Given the description of an element on the screen output the (x, y) to click on. 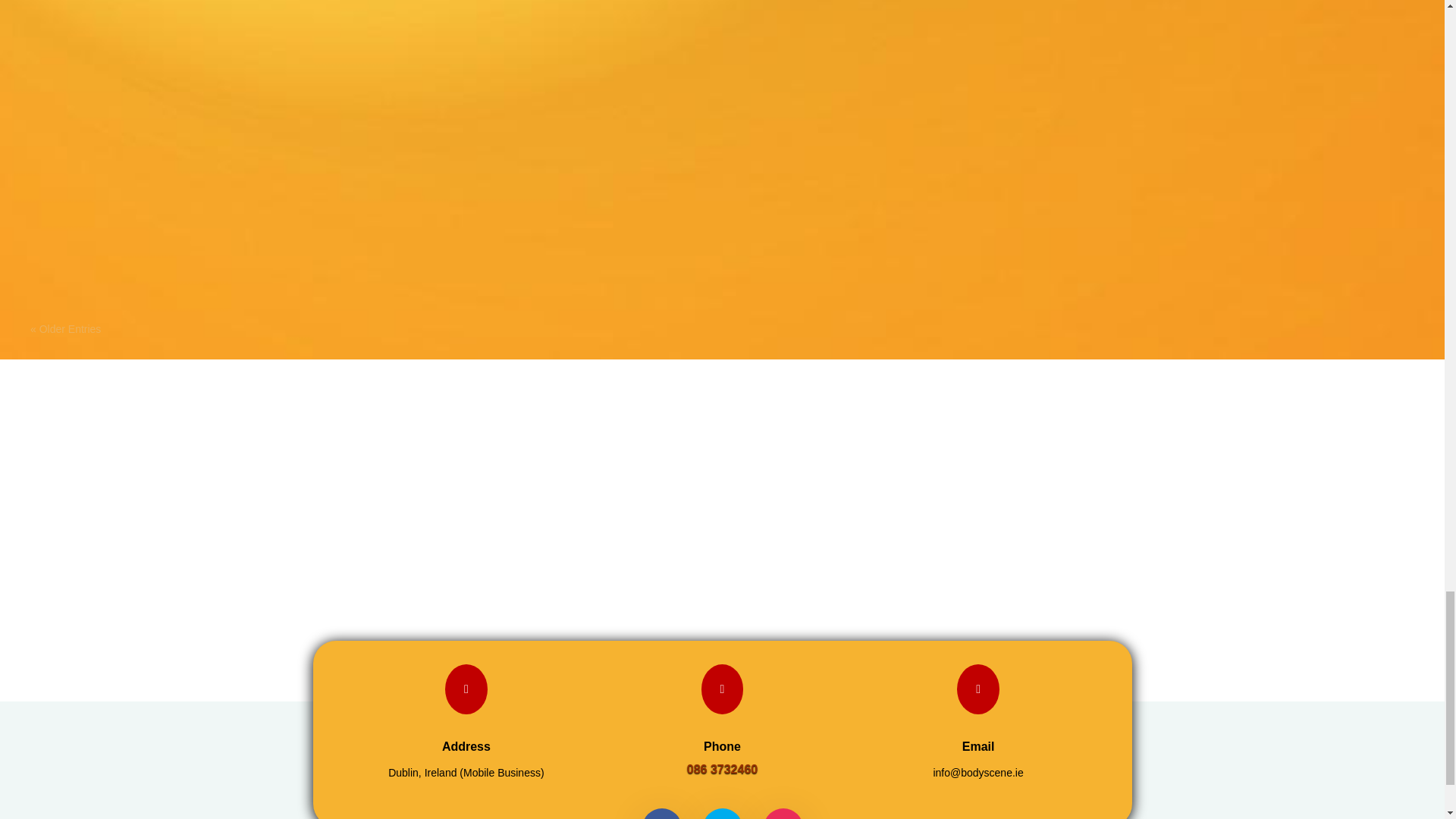
Follow on Twitter (721, 813)
Follow on Instagram (782, 813)
Follow on Facebook (661, 813)
